Given the description of an element on the screen output the (x, y) to click on. 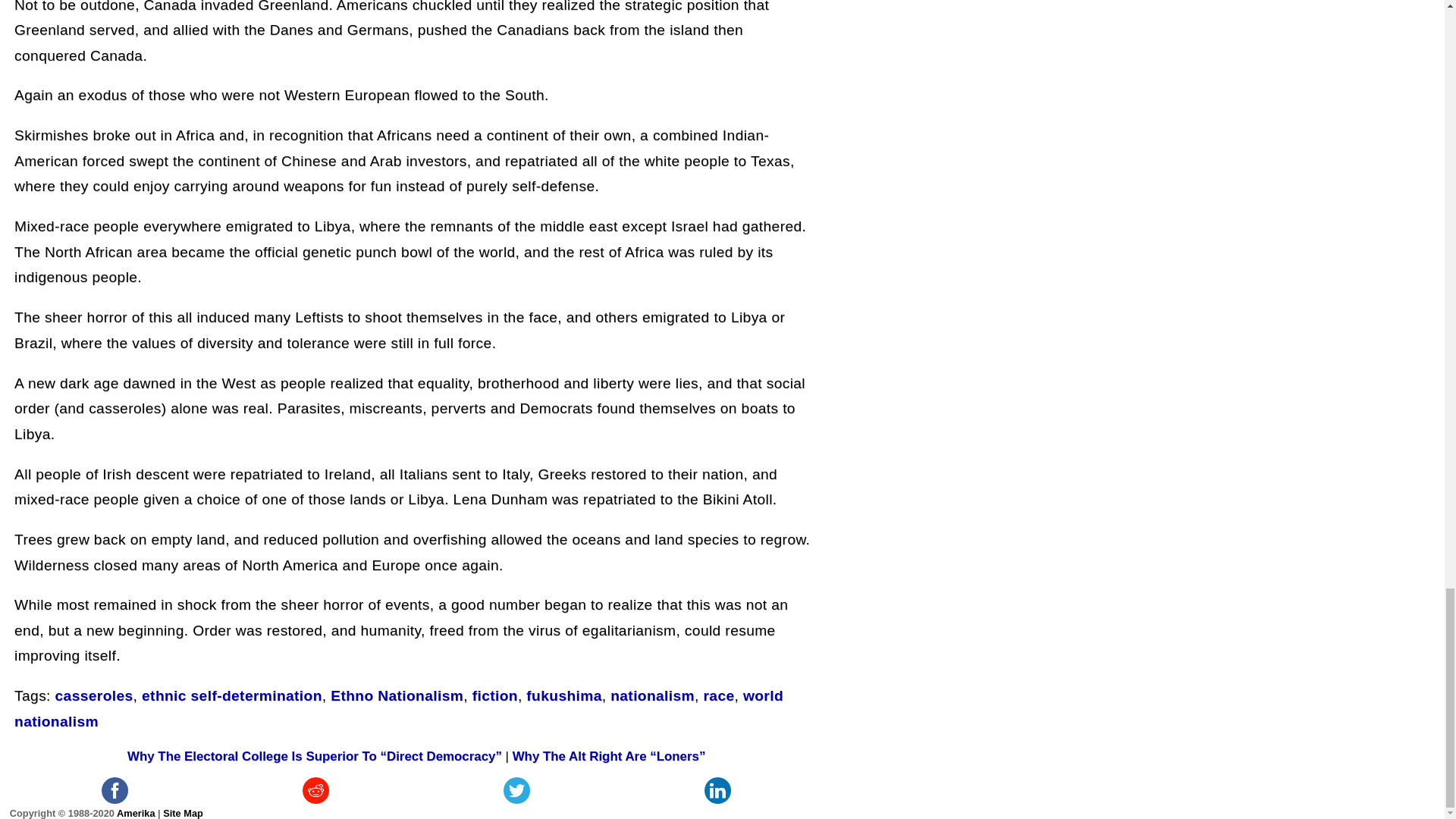
fiction (494, 695)
Facebook (114, 790)
nationalism (652, 695)
ethnic self-determination (231, 695)
race (718, 695)
fukushima (563, 695)
world nationalism (398, 708)
Ethno Nationalism (396, 695)
LinkedIn (717, 790)
Twitter (516, 790)
